Given the description of an element on the screen output the (x, y) to click on. 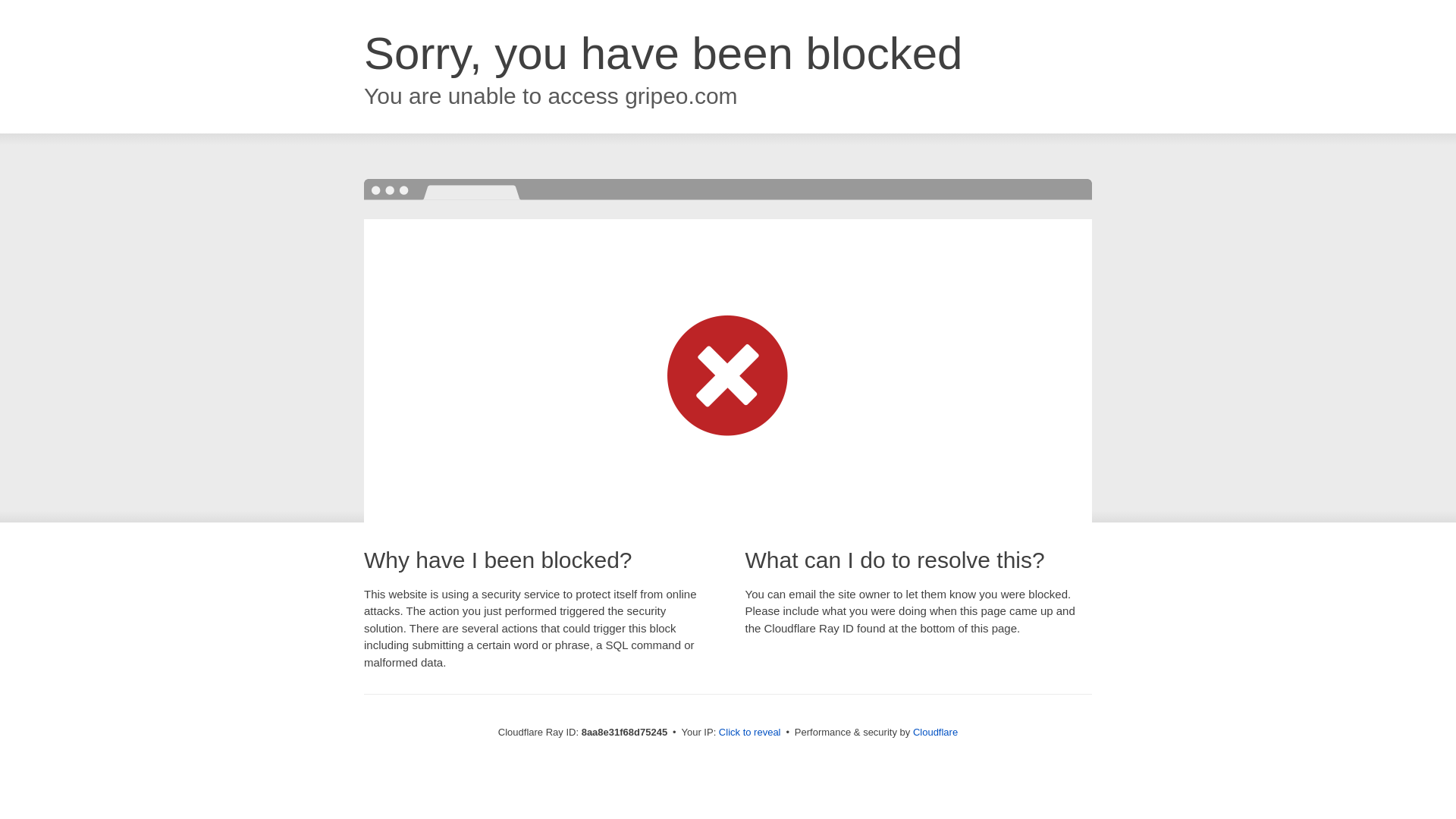
Cloudflare (935, 731)
Click to reveal (749, 732)
